Given the description of an element on the screen output the (x, y) to click on. 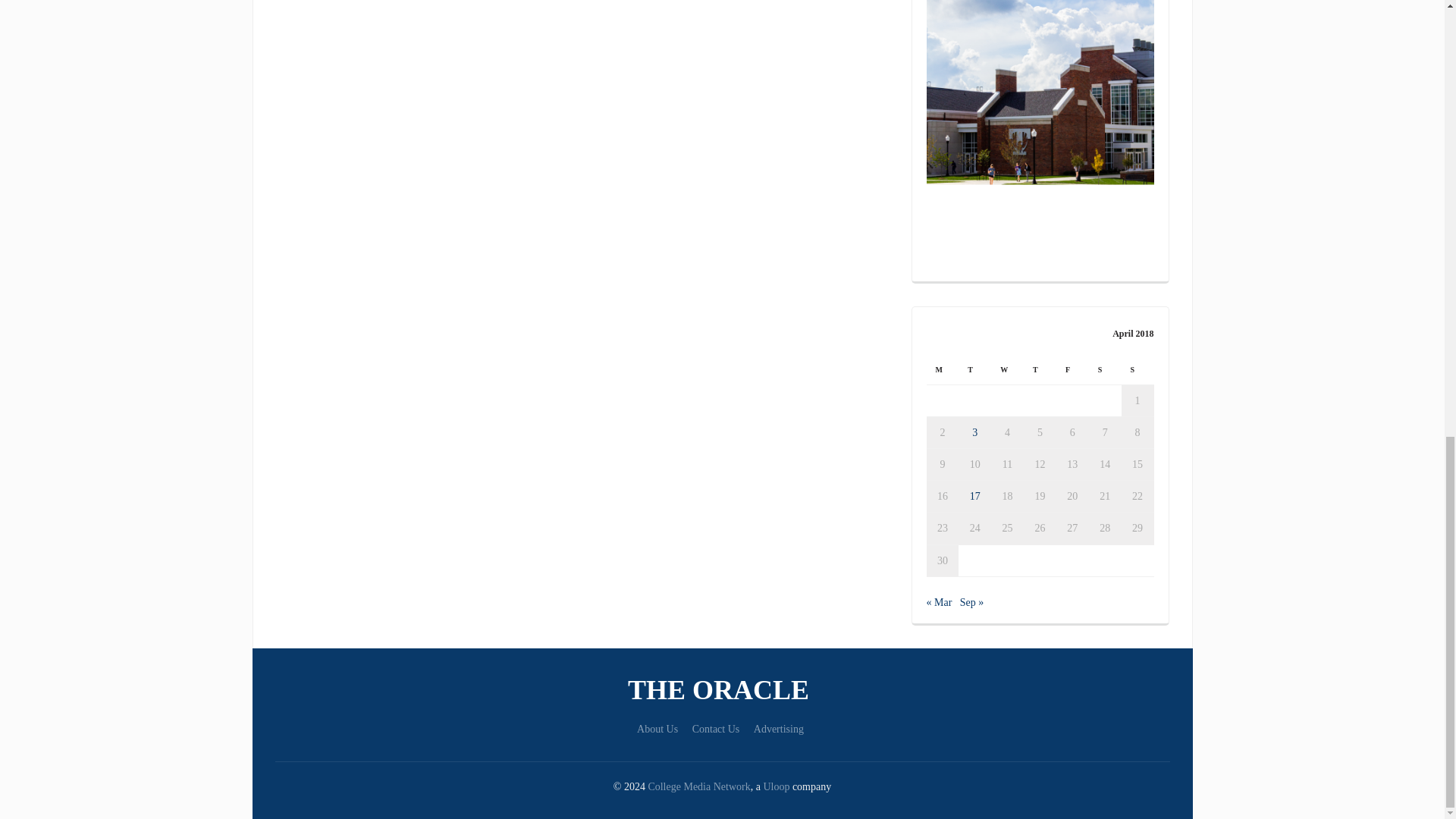
College Media Network (698, 786)
About Us (657, 728)
Monday (942, 368)
Sunday (1137, 368)
Uloop (775, 786)
THE ORACLE (721, 689)
Thursday (1040, 368)
17 (974, 496)
Saturday (1105, 368)
Contact Us (716, 728)
